Given the description of an element on the screen output the (x, y) to click on. 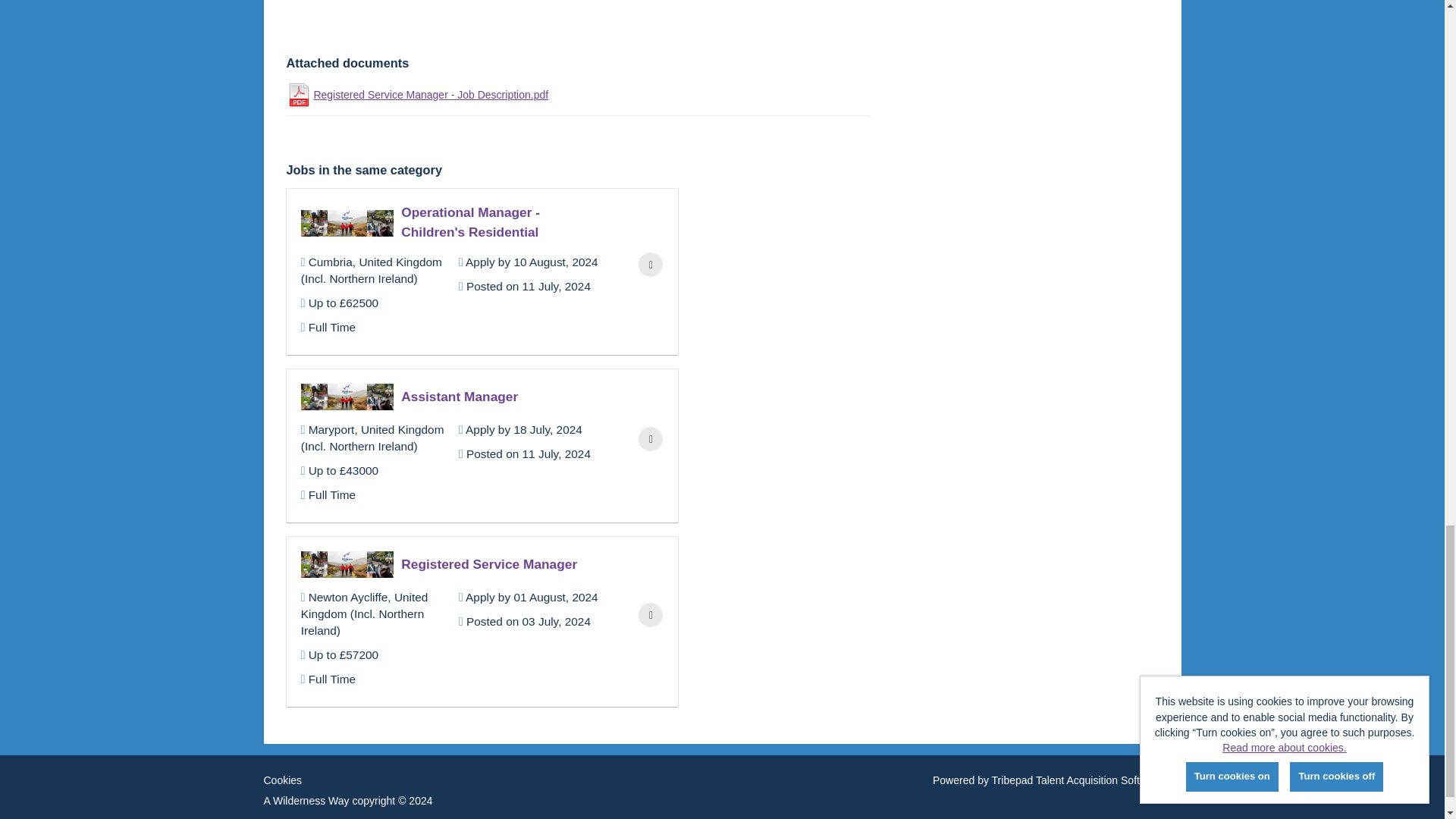
Cookies (282, 779)
Tribepad Talent Acquisition Software (1077, 779)
Cookies (282, 779)
Registered Service Manager - Job Description.pdf (546, 94)
